Given the description of an element on the screen output the (x, y) to click on. 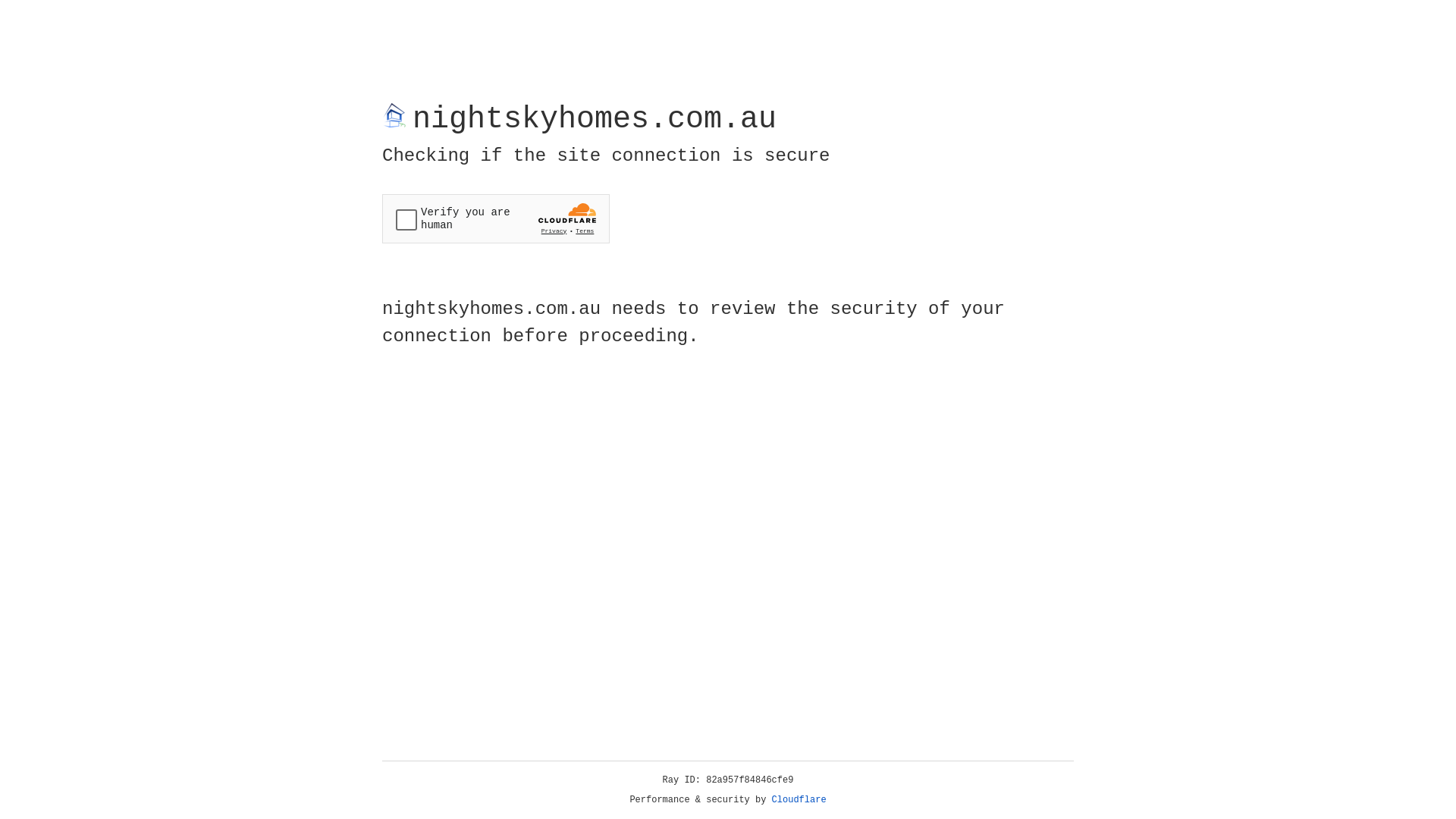
Widget containing a Cloudflare security challenge Element type: hover (495, 218)
Cloudflare Element type: text (798, 799)
